Given the description of an element on the screen output the (x, y) to click on. 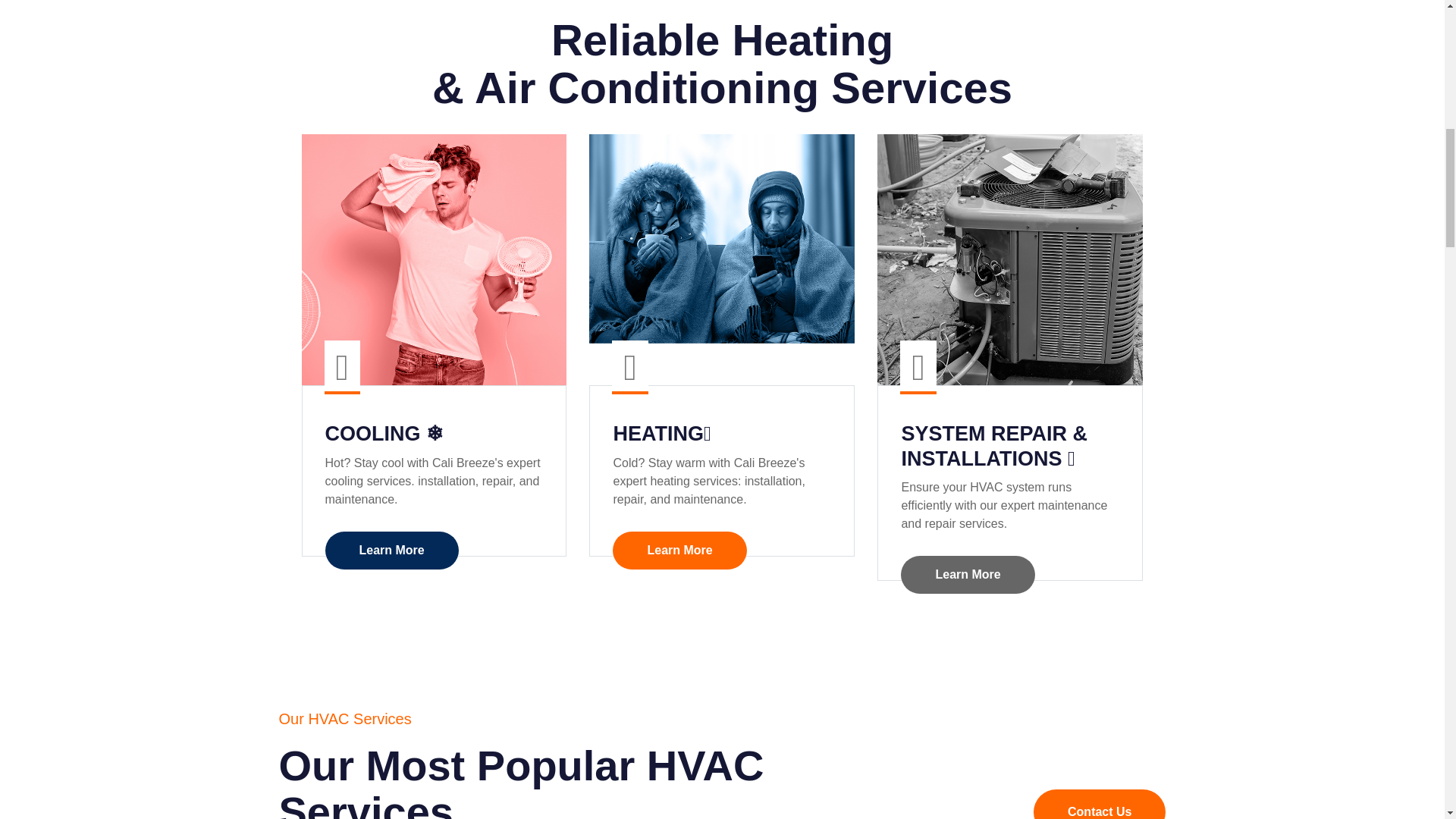
Learn More (678, 550)
Learn More (967, 574)
Contact Us (1099, 804)
Learn More (391, 550)
